Given the description of an element on the screen output the (x, y) to click on. 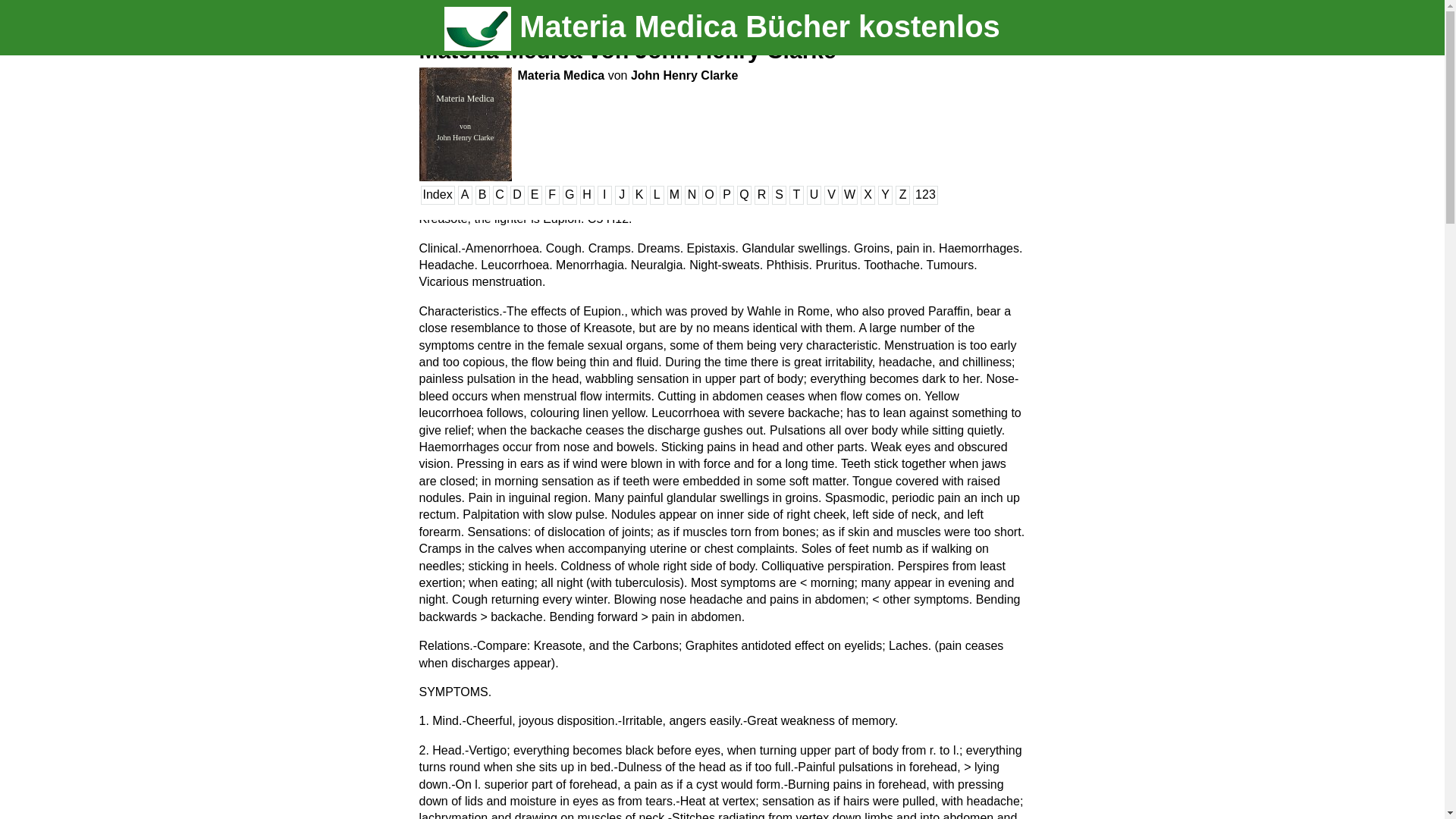
Materia Medica von John Henry Clarke (627, 50)
123 (924, 194)
Index (437, 194)
